Given the description of an element on the screen output the (x, y) to click on. 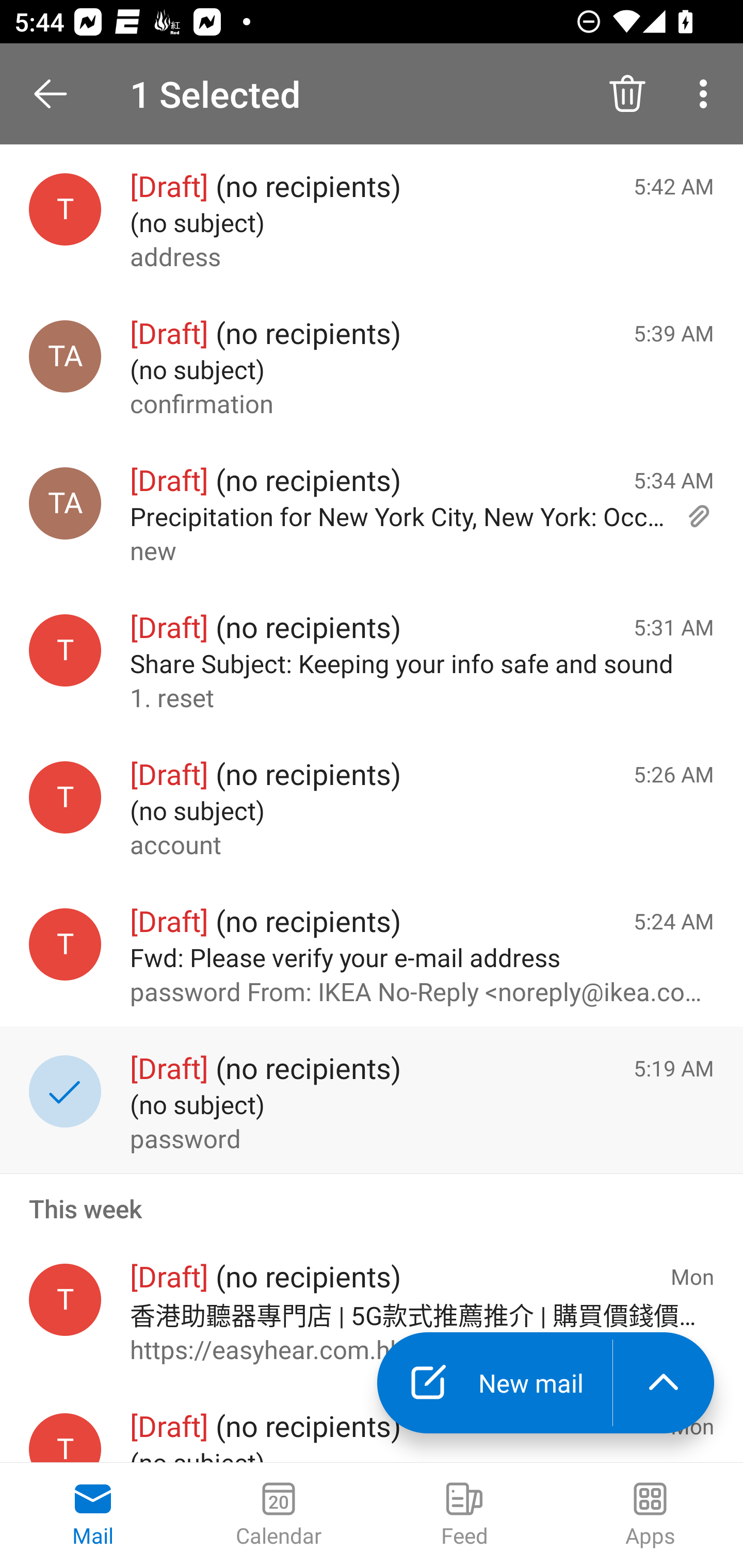
Delete (626, 93)
More options (706, 93)
Open Navigation Drawer (57, 94)
testappium002@outlook.com (64, 210)
Test Appium, testappium002@outlook.com (64, 355)
Test Appium, testappium002@outlook.com (64, 503)
testappium002@outlook.com (64, 650)
testappium002@outlook.com (64, 798)
testappium002@outlook.com (64, 943)
testappium002@outlook.com (64, 1299)
New mail (494, 1382)
launch the extended action menu (663, 1382)
testappium002@outlook.com (64, 1437)
Calendar (278, 1515)
Feed (464, 1515)
Apps (650, 1515)
